Given the description of an element on the screen output the (x, y) to click on. 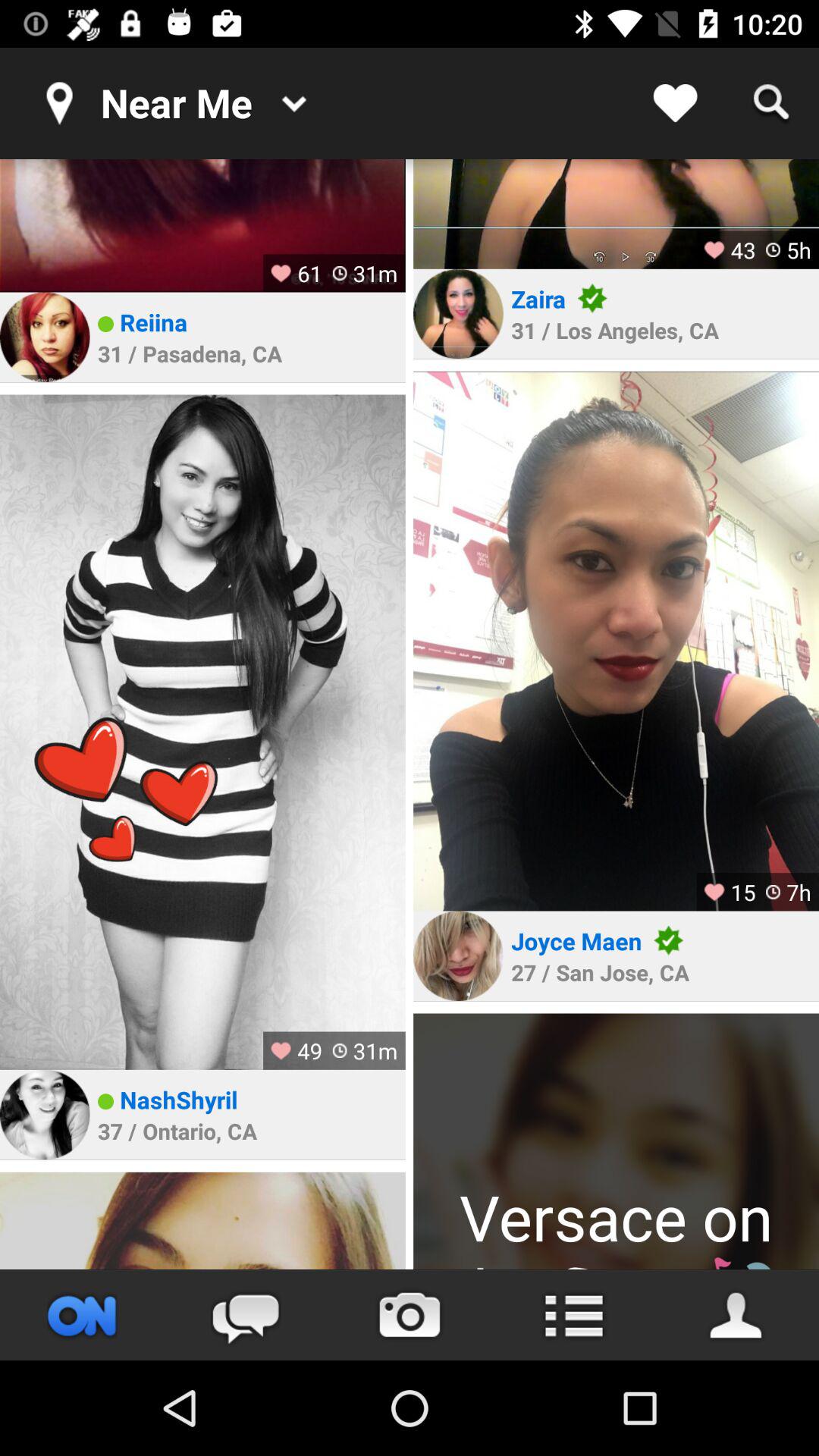
select picture (202, 225)
